Given the description of an element on the screen output the (x, y) to click on. 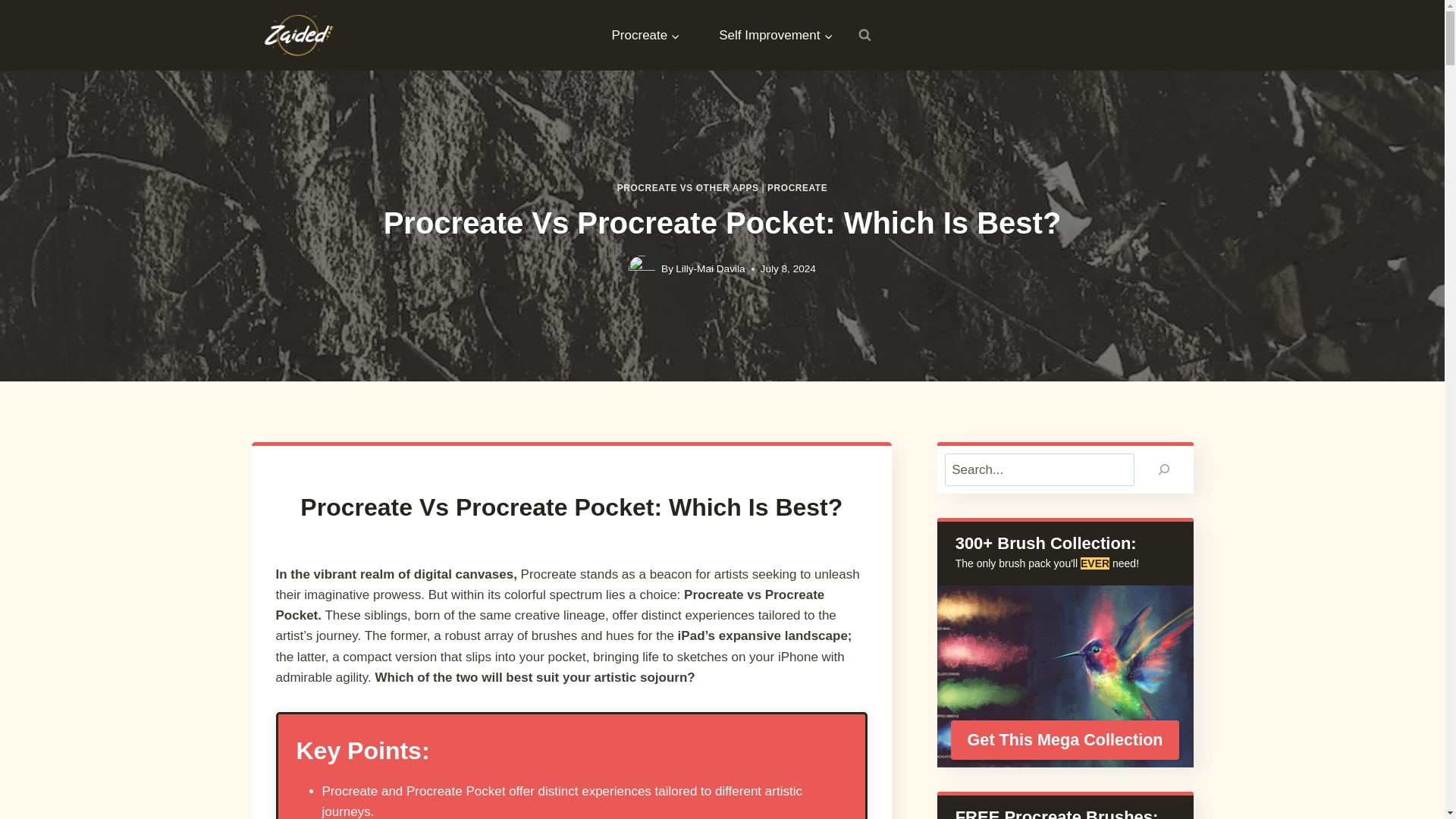
PROCREATE VS OTHER APPS (687, 187)
Self Improvement (775, 35)
Procreate (646, 35)
PROCREATE (797, 187)
Lilly-Mai Davila (709, 268)
